Given the description of an element on the screen output the (x, y) to click on. 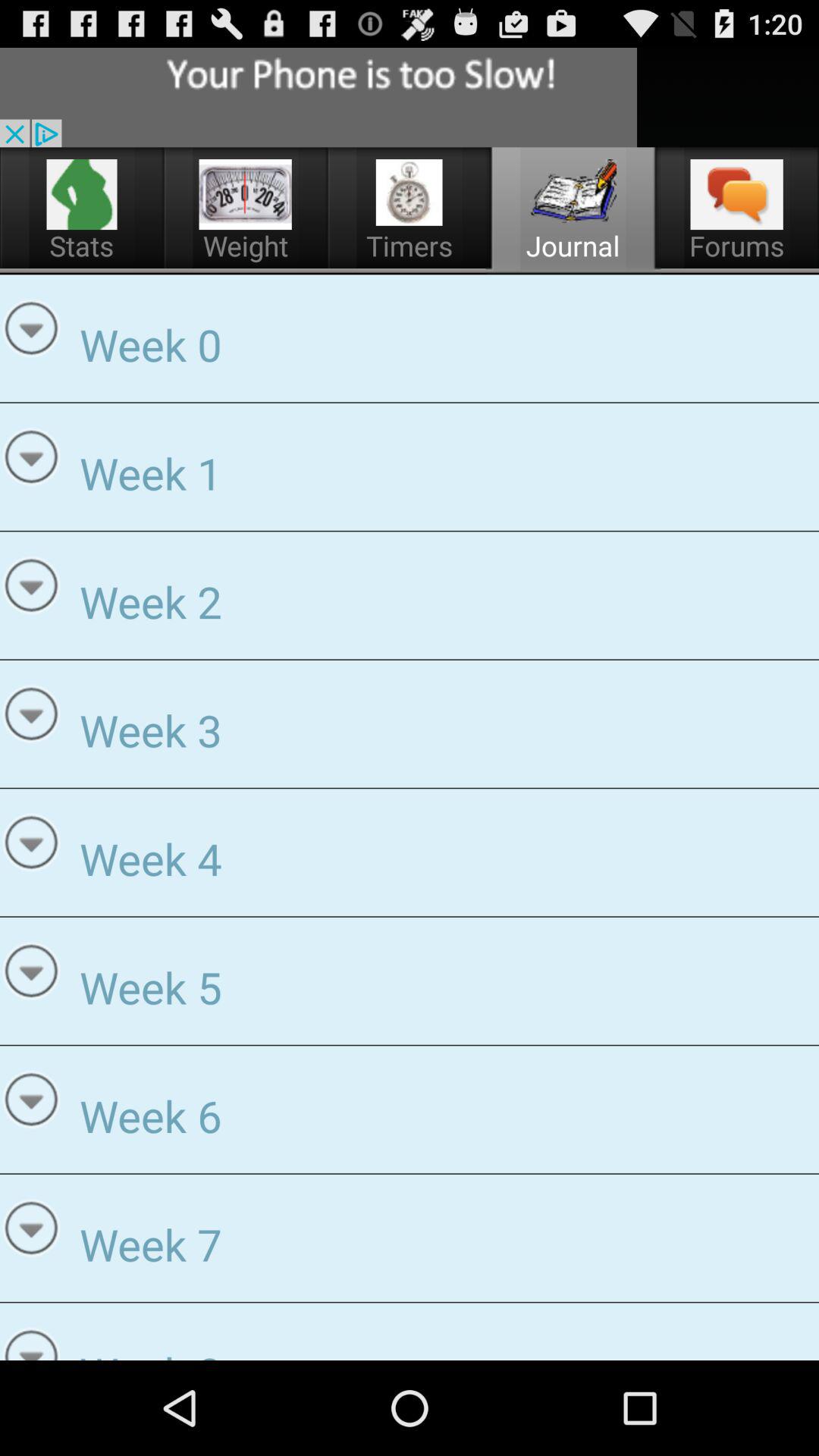
click notification (318, 97)
